Given the description of an element on the screen output the (x, y) to click on. 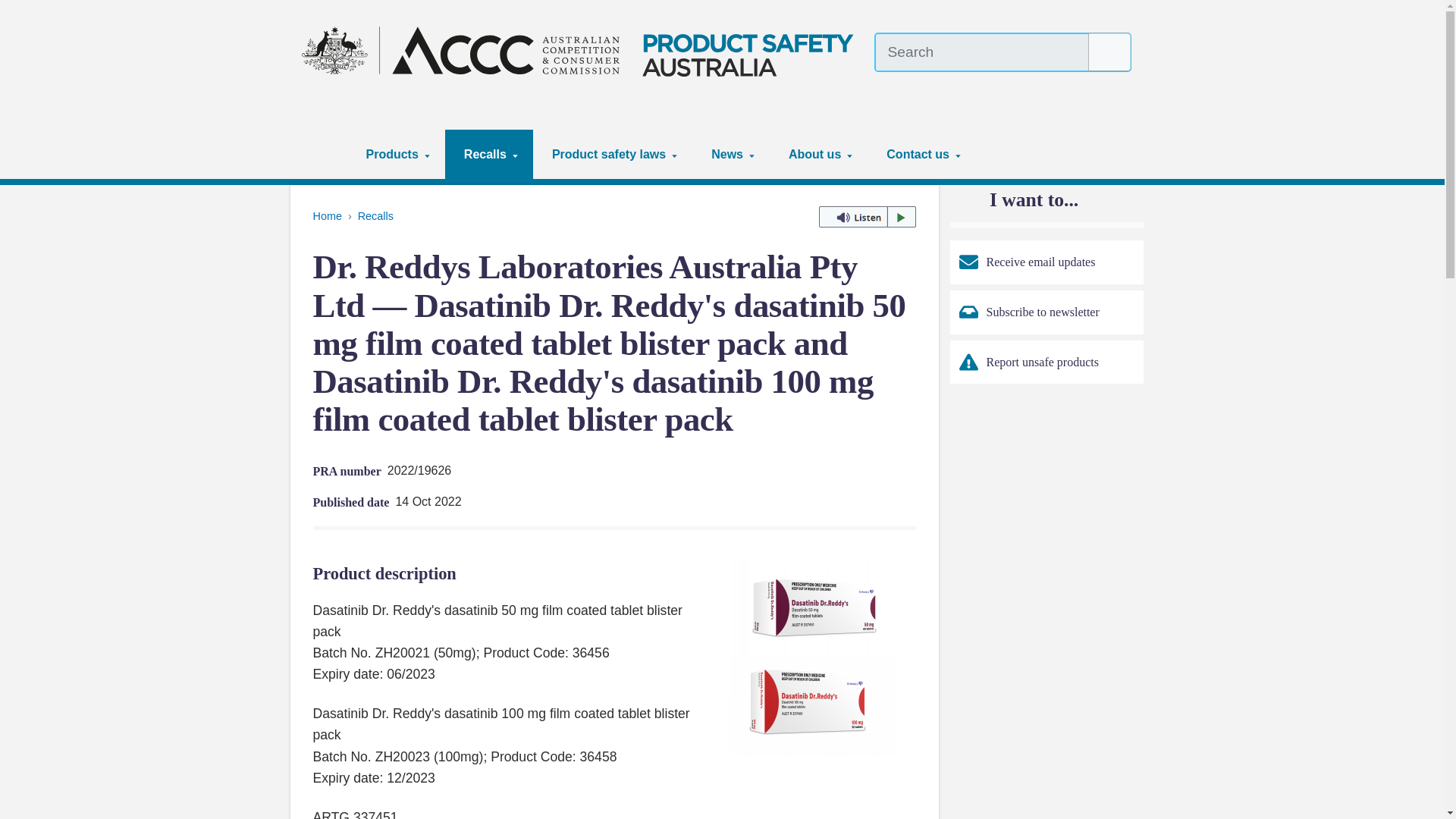
"Products" (426, 154)
Listen to this page using ReadSpeaker (866, 216)
Search (1109, 51)
Product Safety Australia home (582, 49)
Products (396, 154)
Home (324, 154)
About website translation (1123, 87)
